Given the description of an element on the screen output the (x, y) to click on. 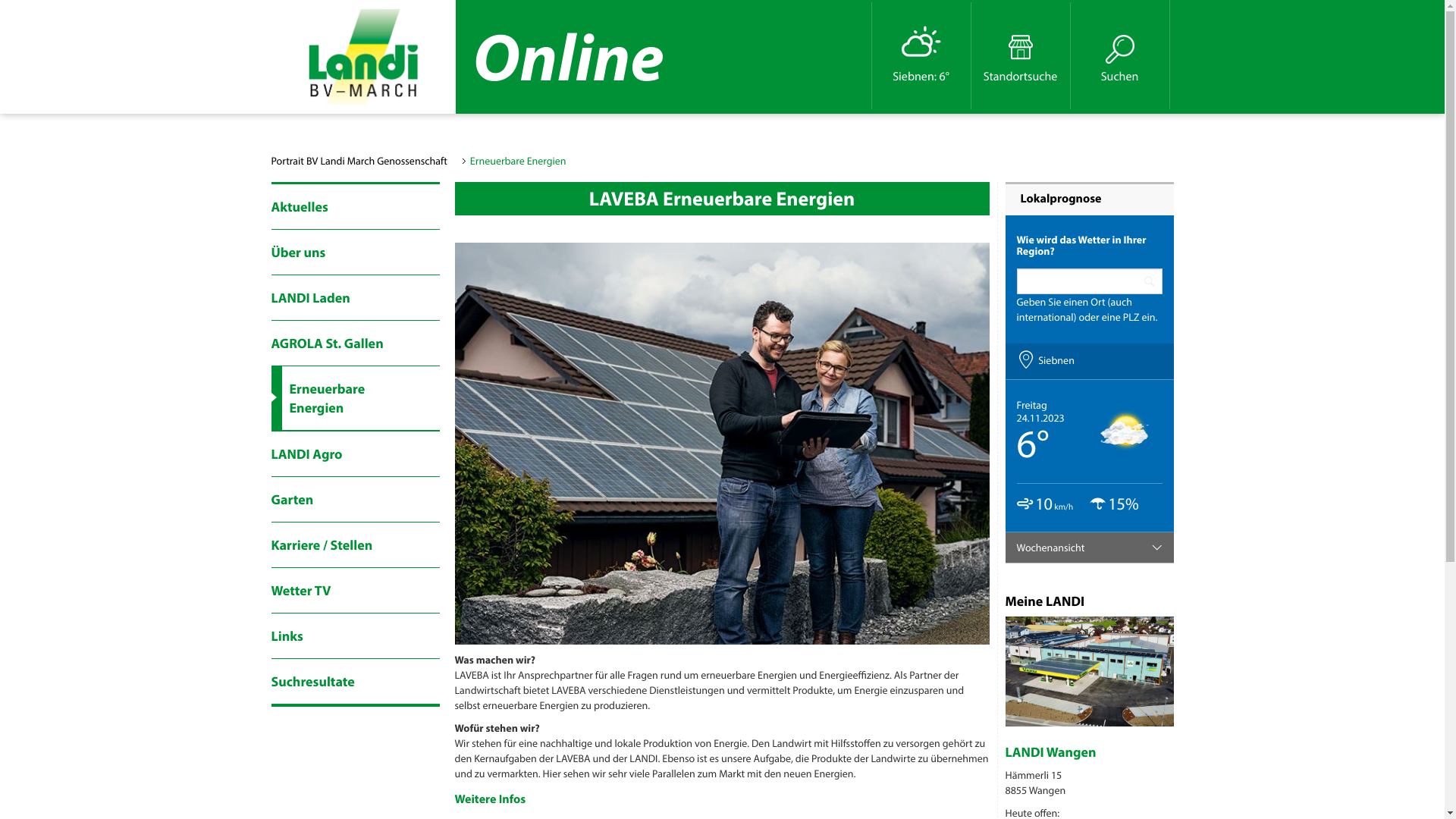
Suchen Element type: text (1120, 80)
Suchen Element type: text (1119, 56)
AGROLA St. Gallen Element type: text (355, 342)
Wetter TV Element type: text (355, 589)
Karriere / Stellen Element type: text (355, 544)
Erneuerbare Energien Element type: text (355, 398)
LANDI Agro Element type: text (355, 453)
Links Element type: text (355, 635)
Suchresultate Element type: text (355, 680)
Wochenansicht Element type: text (1089, 547)
Standortsuche Element type: text (1019, 56)
Lokalprognose Element type: text (1060, 198)
Garten Element type: text (355, 498)
Aktuelles Element type: text (355, 206)
Weitere Infos Element type: text (490, 798)
LANDI Laden Element type: text (355, 297)
Portrait BV Landi March Genossenschaft Element type: text (359, 160)
